Given the description of an element on the screen output the (x, y) to click on. 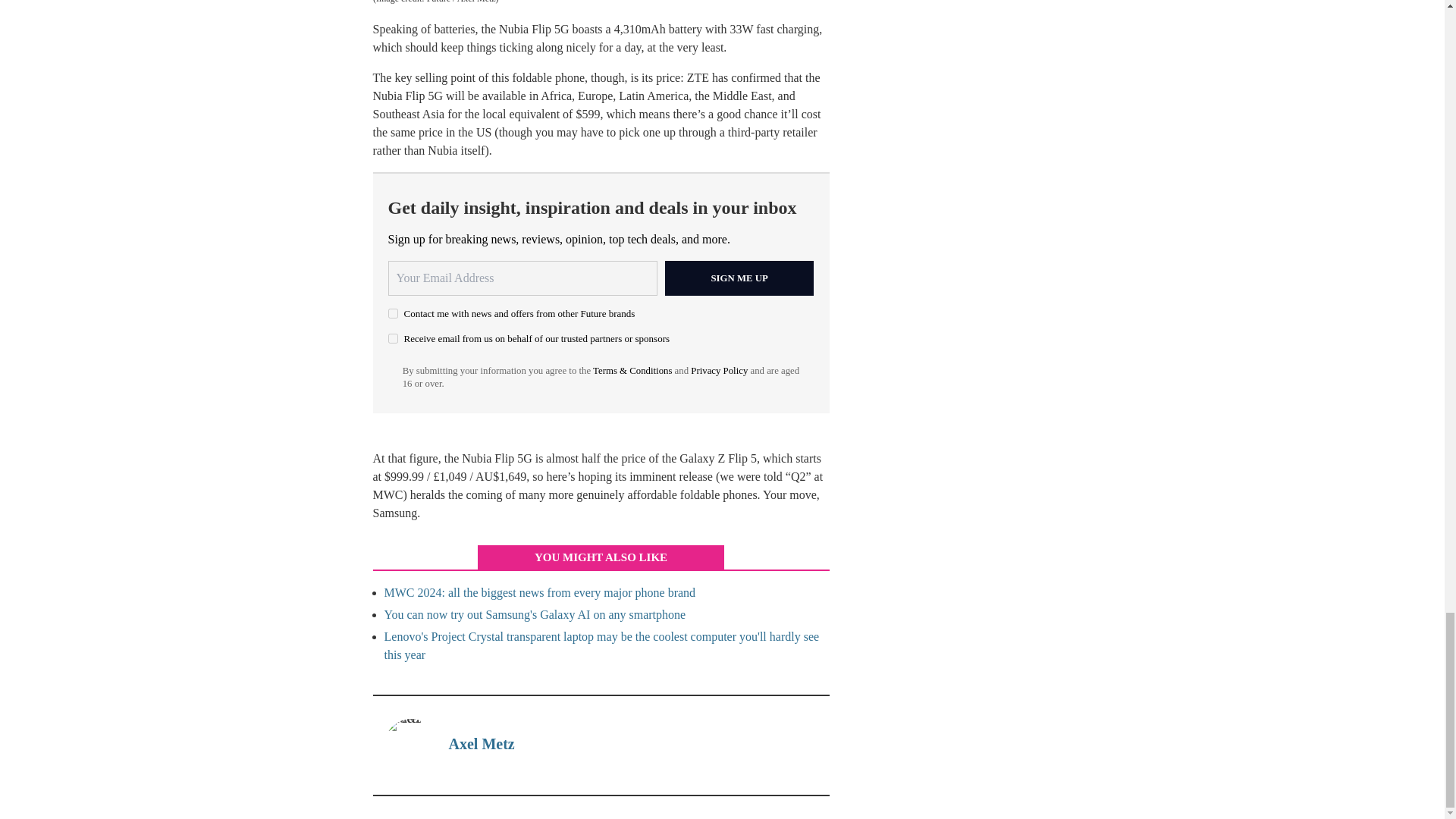
Sign me up (739, 278)
on (392, 313)
on (392, 338)
